Given the description of an element on the screen output the (x, y) to click on. 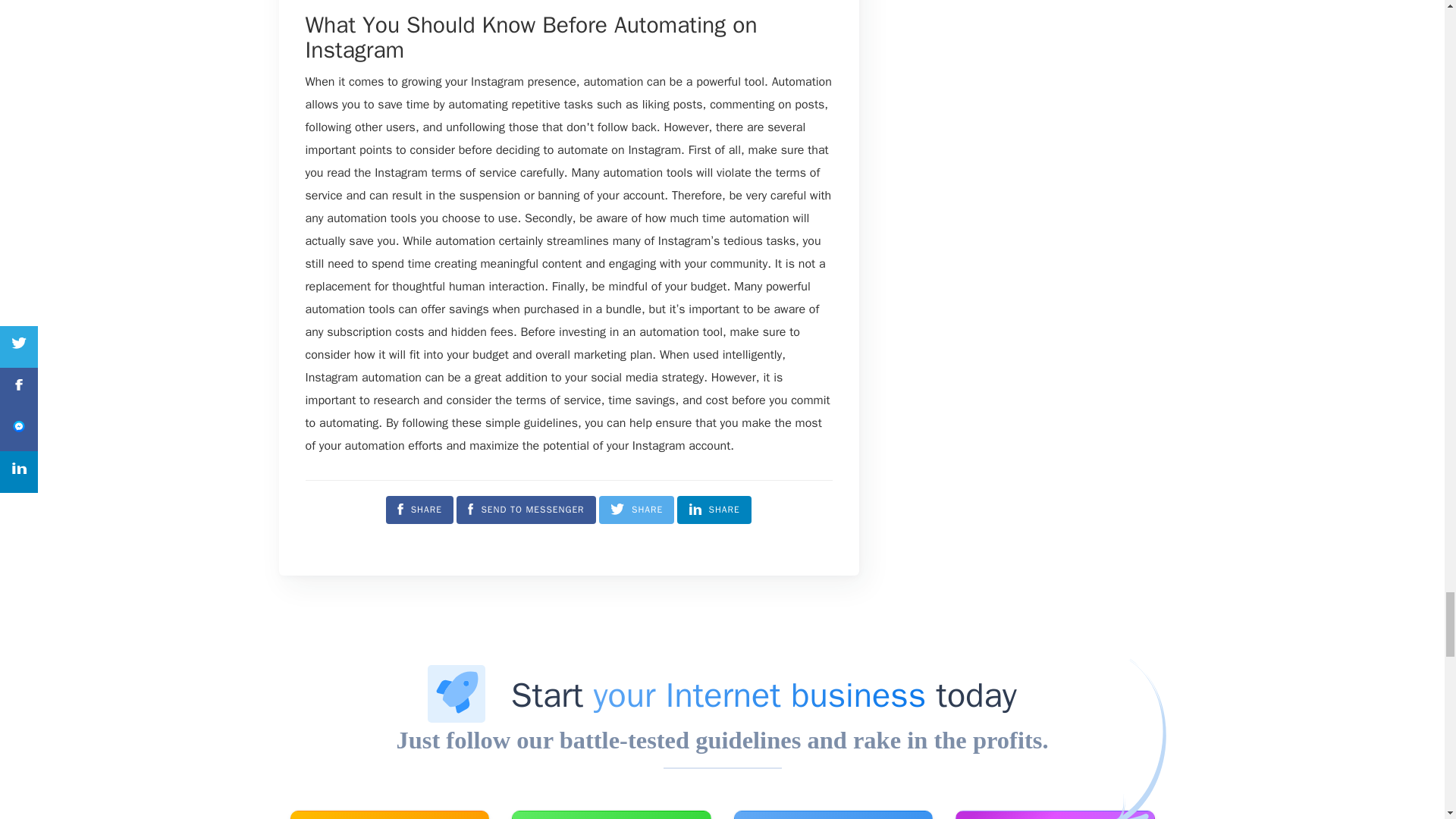
SHARE (418, 510)
SHARE (636, 510)
SEND TO MESSENGER (526, 510)
SHARE (714, 510)
